Given the description of an element on the screen output the (x, y) to click on. 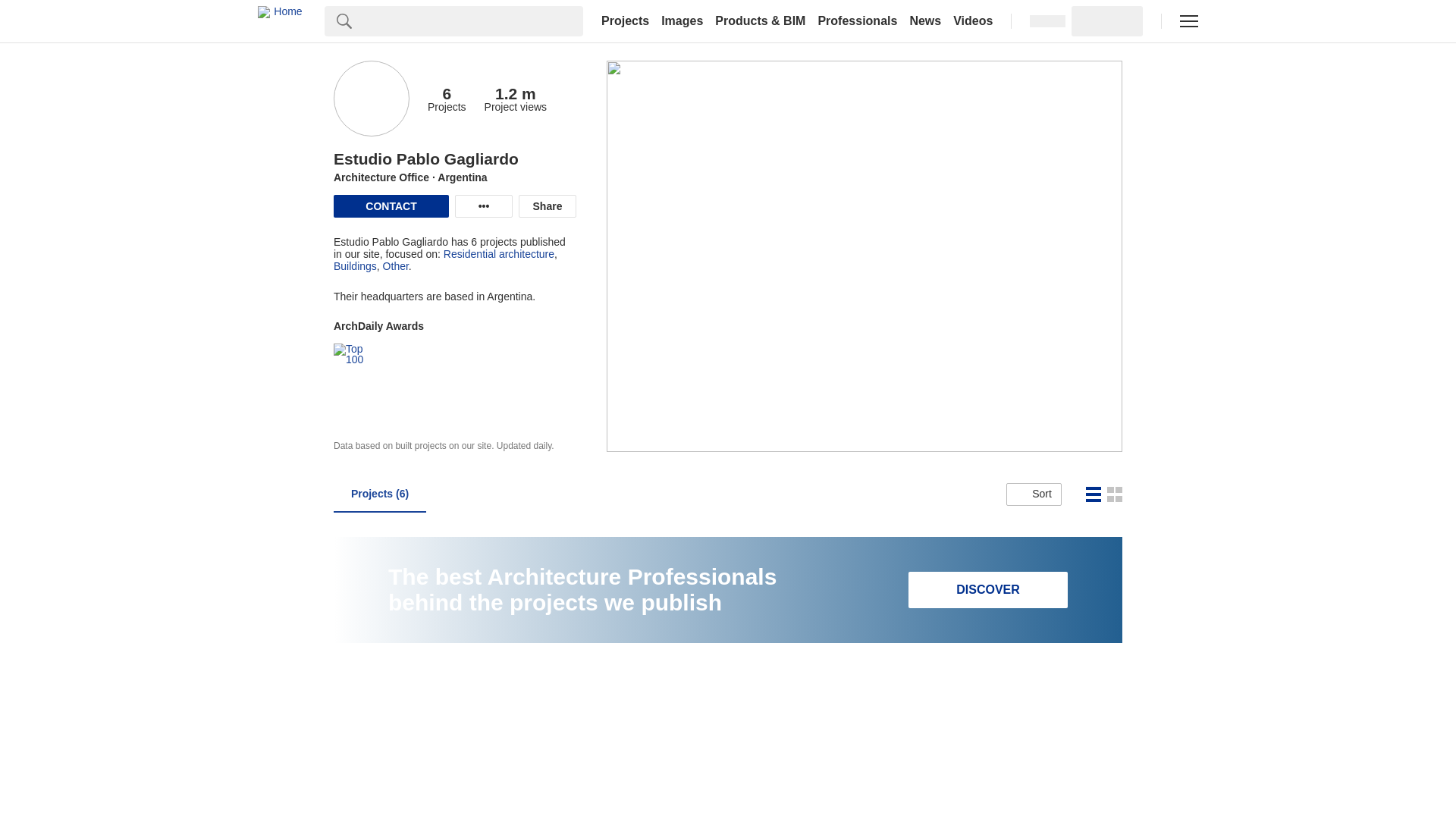
Images (682, 21)
Projects (625, 21)
News (924, 21)
Videos (972, 21)
Professionals (856, 21)
